Given the description of an element on the screen output the (x, y) to click on. 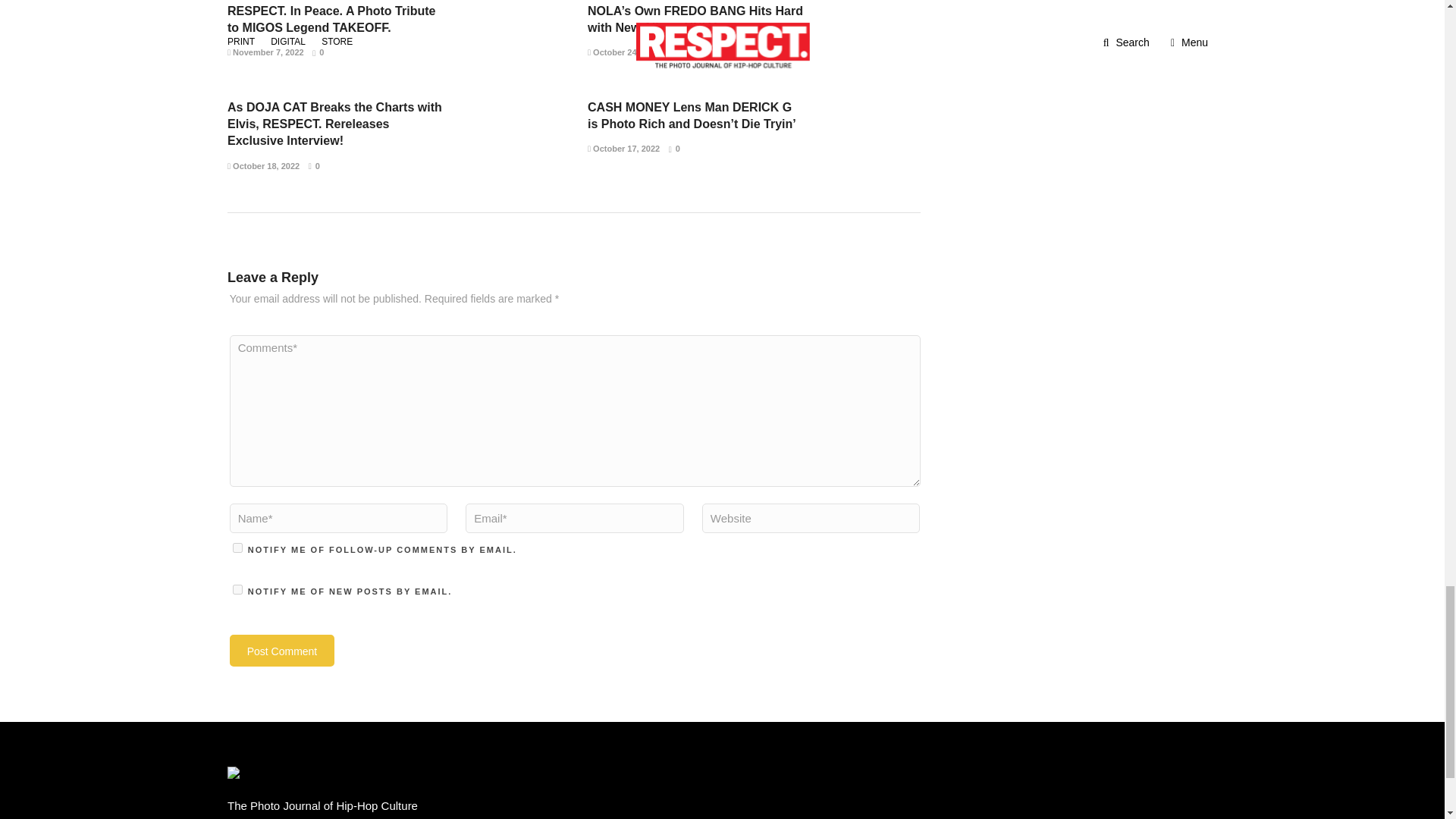
Post Comment (282, 650)
RESPECT. In Peace. A Photo Tribute to MIGOS Legend TAKEOFF. (331, 19)
subscribe (237, 589)
subscribe (237, 547)
